Given the description of an element on the screen output the (x, y) to click on. 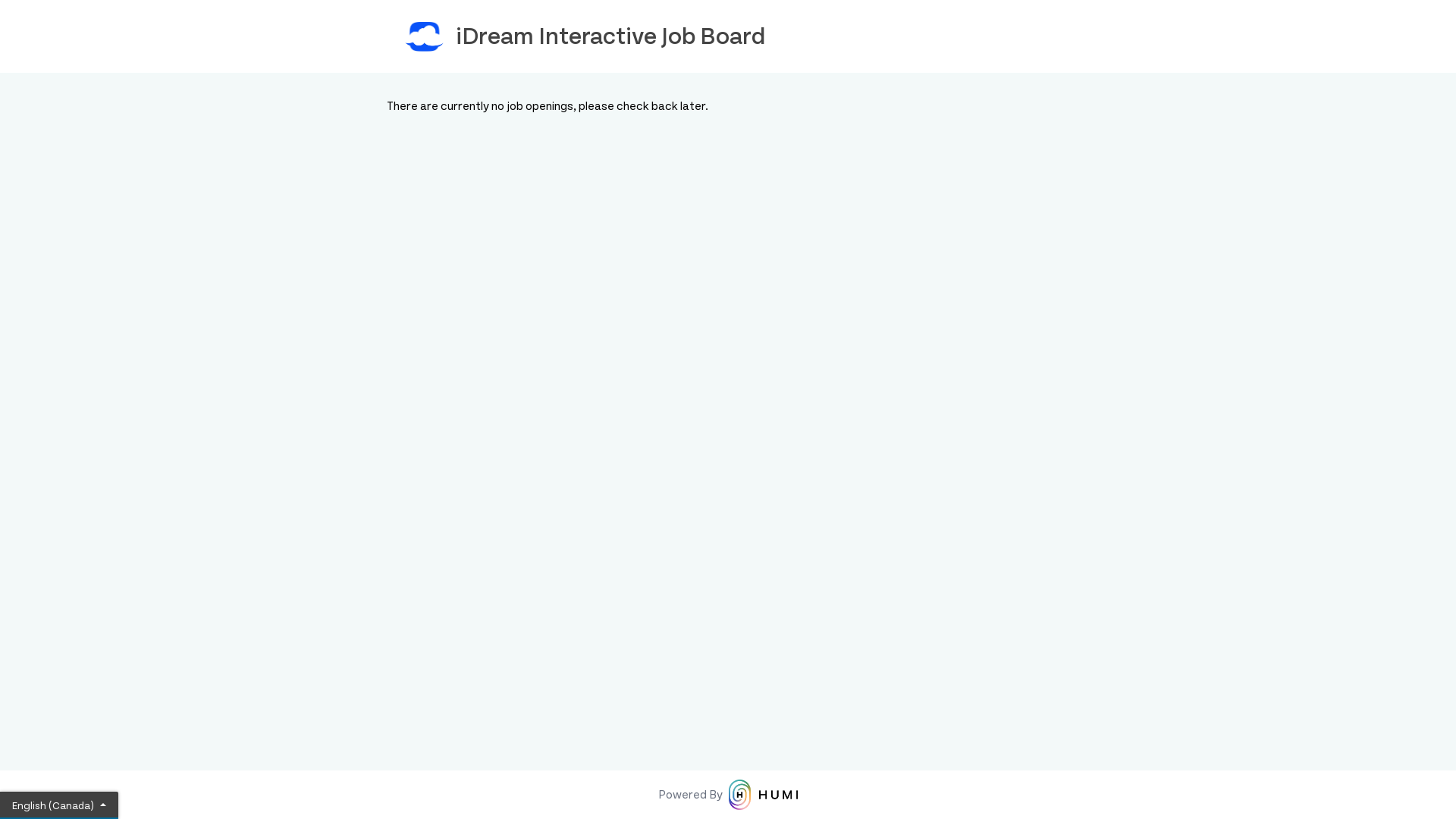
Powered By Element type: text (727, 794)
iDream Interactive Job Board Element type: text (727, 36)
